Given the description of an element on the screen output the (x, y) to click on. 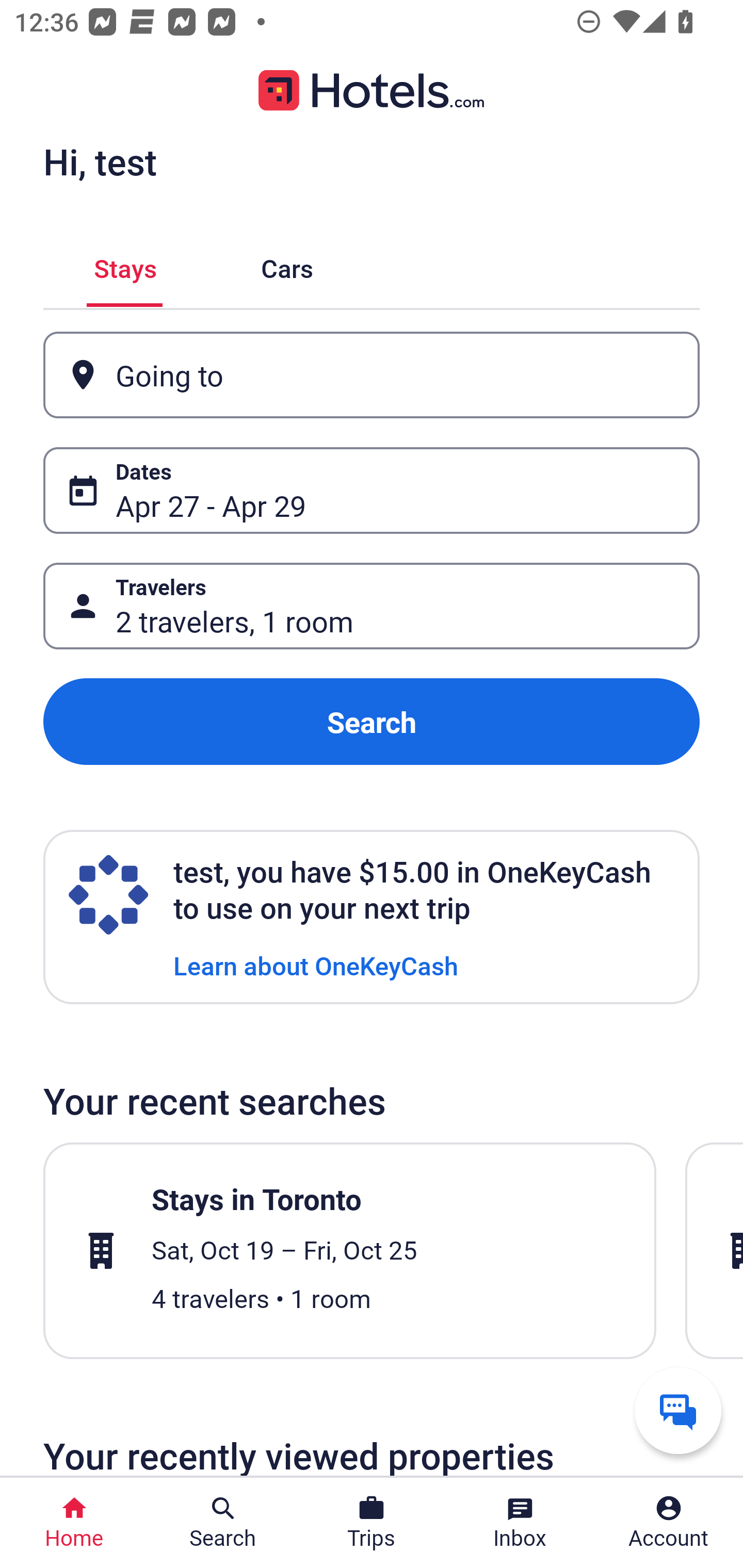
Hi, test (99, 161)
Cars (286, 265)
Going to Button (371, 375)
Dates Button Apr 27 - Apr 29 (371, 489)
Travelers Button 2 travelers, 1 room (371, 605)
Search (371, 721)
Learn about OneKeyCash Learn about OneKeyCash Link (315, 964)
Get help from a virtual agent (677, 1410)
Search Search Button (222, 1522)
Trips Trips Button (371, 1522)
Inbox Inbox Button (519, 1522)
Account Profile. Button (668, 1522)
